Given the description of an element on the screen output the (x, y) to click on. 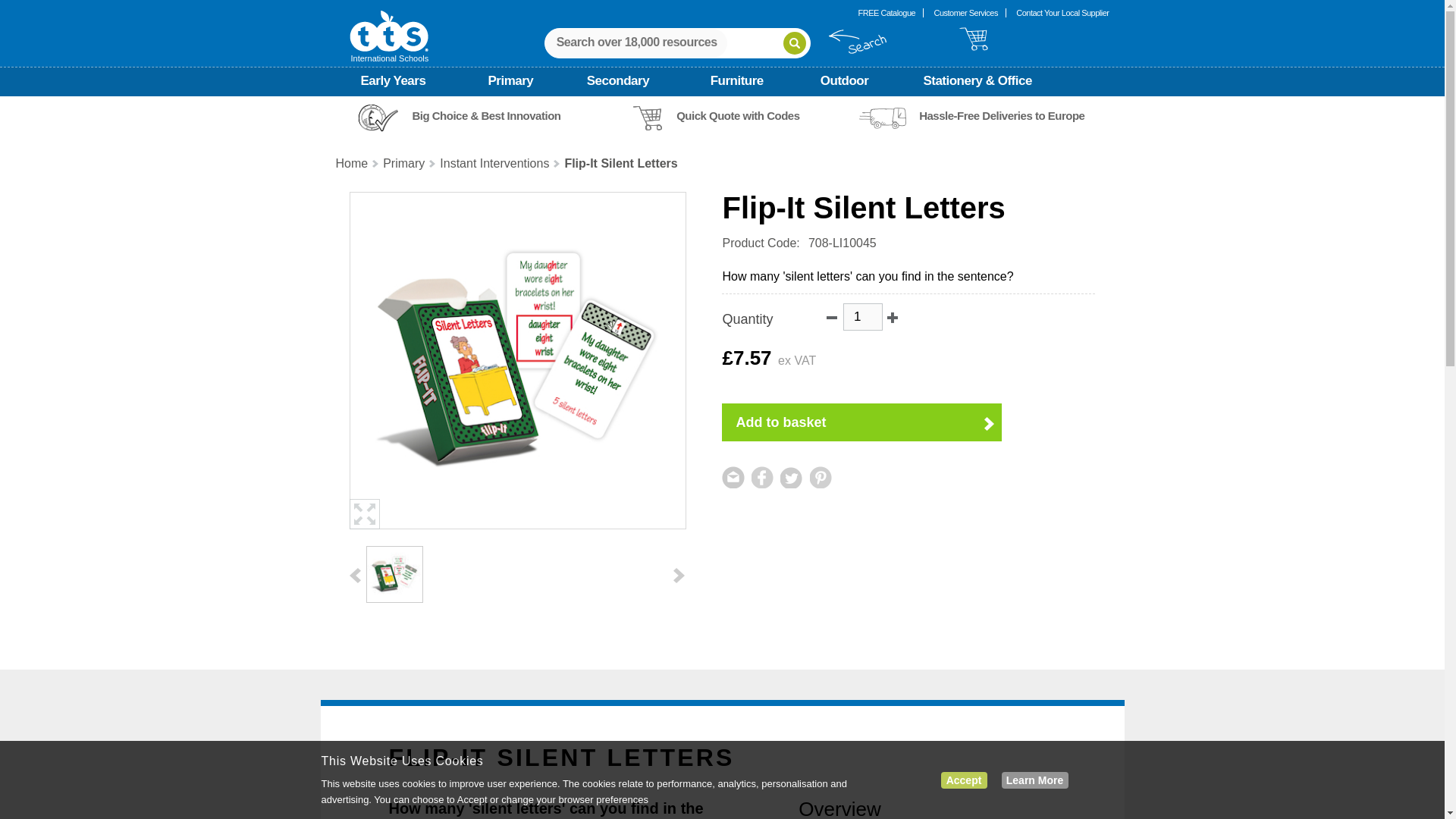
International Schools (388, 36)
FREE Catalogue (887, 12)
free catalogue (887, 12)
Early Years (412, 81)
Contact Your Local Supplier (1062, 12)
Customer Services (966, 12)
Share on Twitter (791, 477)
Share on Pinterest (820, 477)
Share on Facebook (762, 477)
Home (357, 163)
customer services (966, 12)
Share on email (733, 477)
Add to basket (861, 422)
Primary (525, 81)
Contact Your Local Supplier (1062, 12)
